Given the description of an element on the screen output the (x, y) to click on. 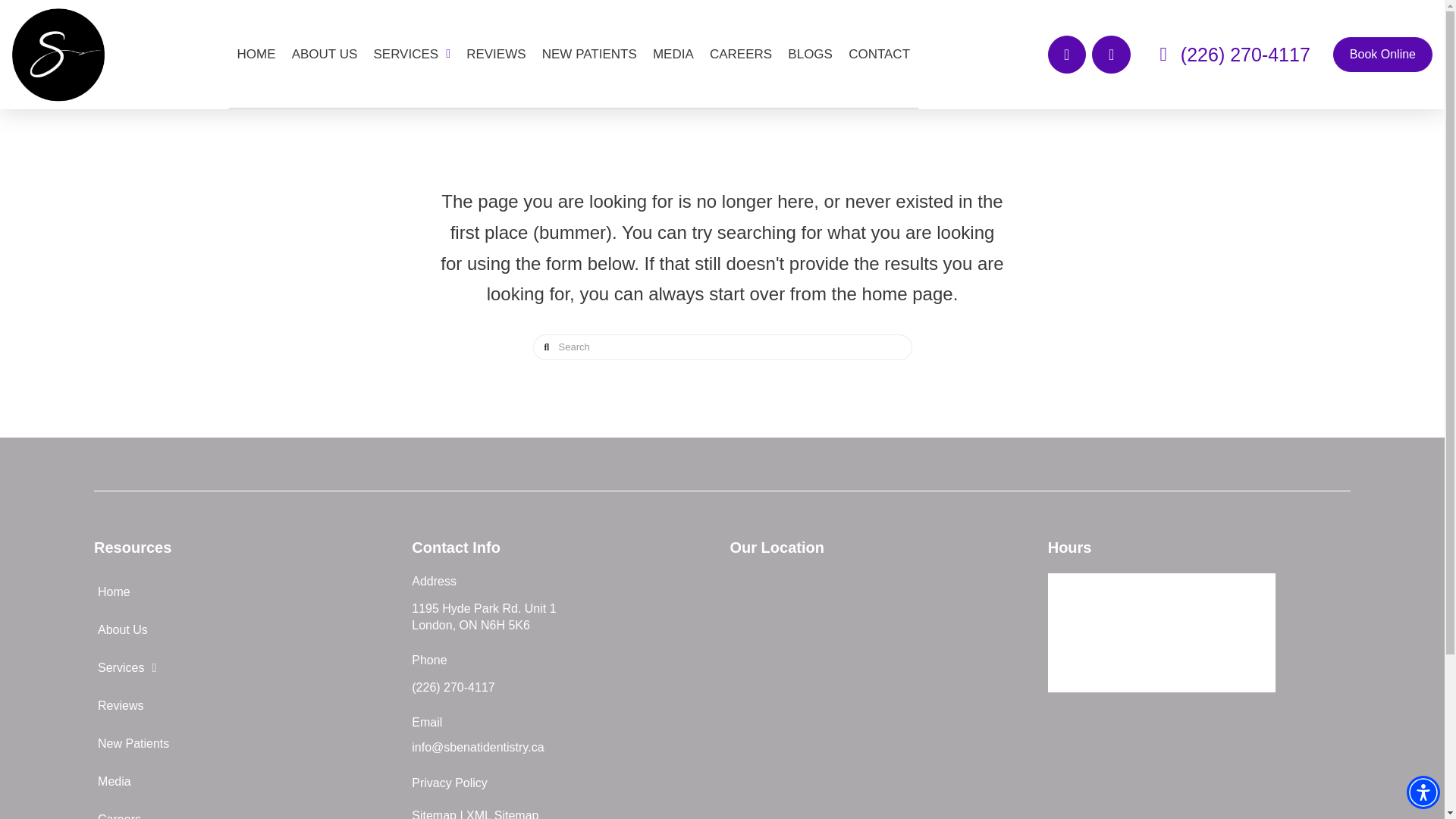
NEW PATIENTS (589, 53)
Book Online (1382, 54)
Home (245, 591)
Services (245, 668)
Reviews (245, 705)
Accessibility Menu (1422, 792)
About Us (245, 629)
